Given the description of an element on the screen output the (x, y) to click on. 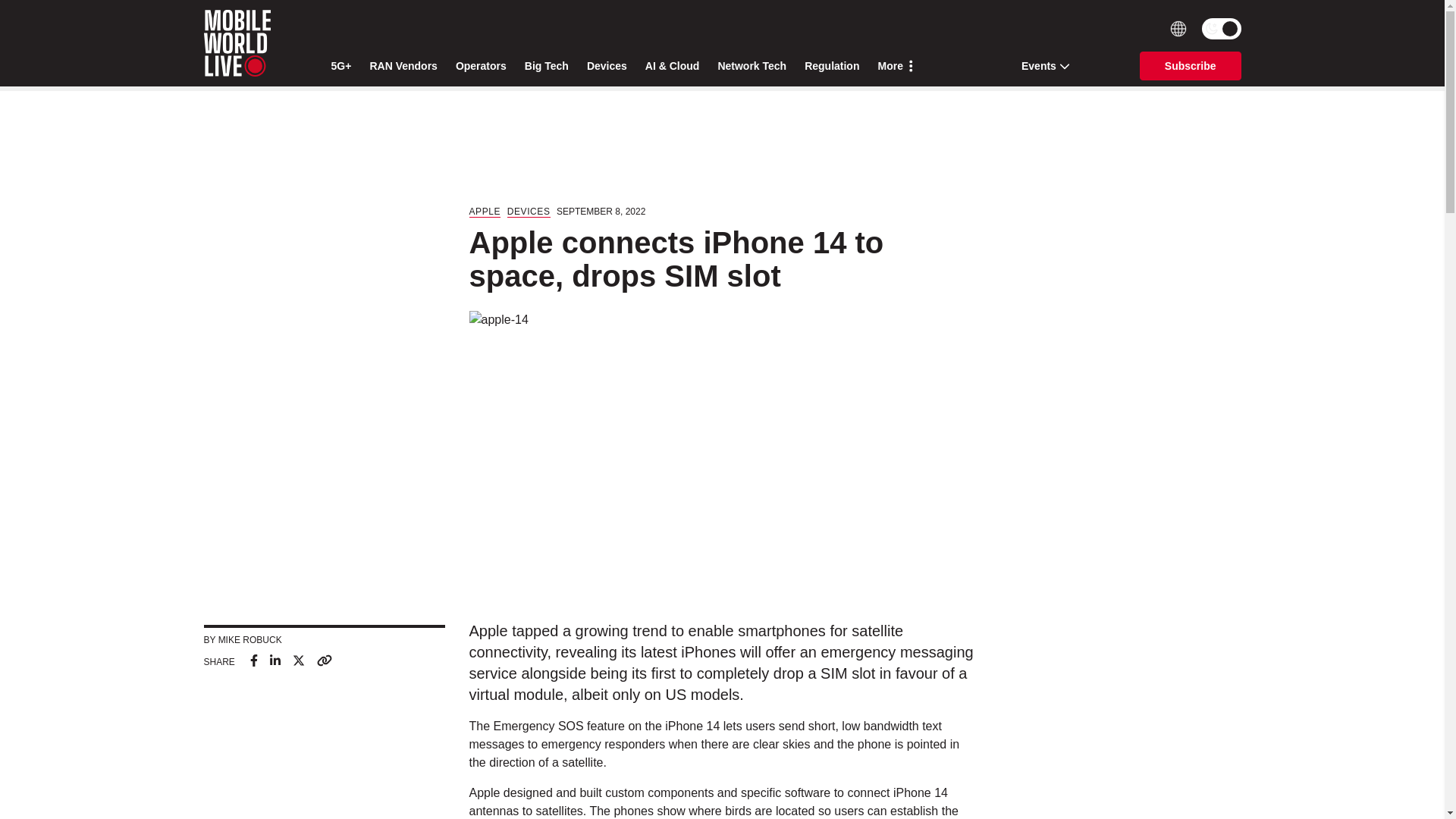
Regulation (832, 65)
Devices (606, 65)
Events (1040, 65)
Operators (480, 65)
RAN Vendors (402, 65)
Network Tech (751, 65)
Big Tech (546, 65)
Subscribe (1190, 65)
